Given the description of an element on the screen output the (x, y) to click on. 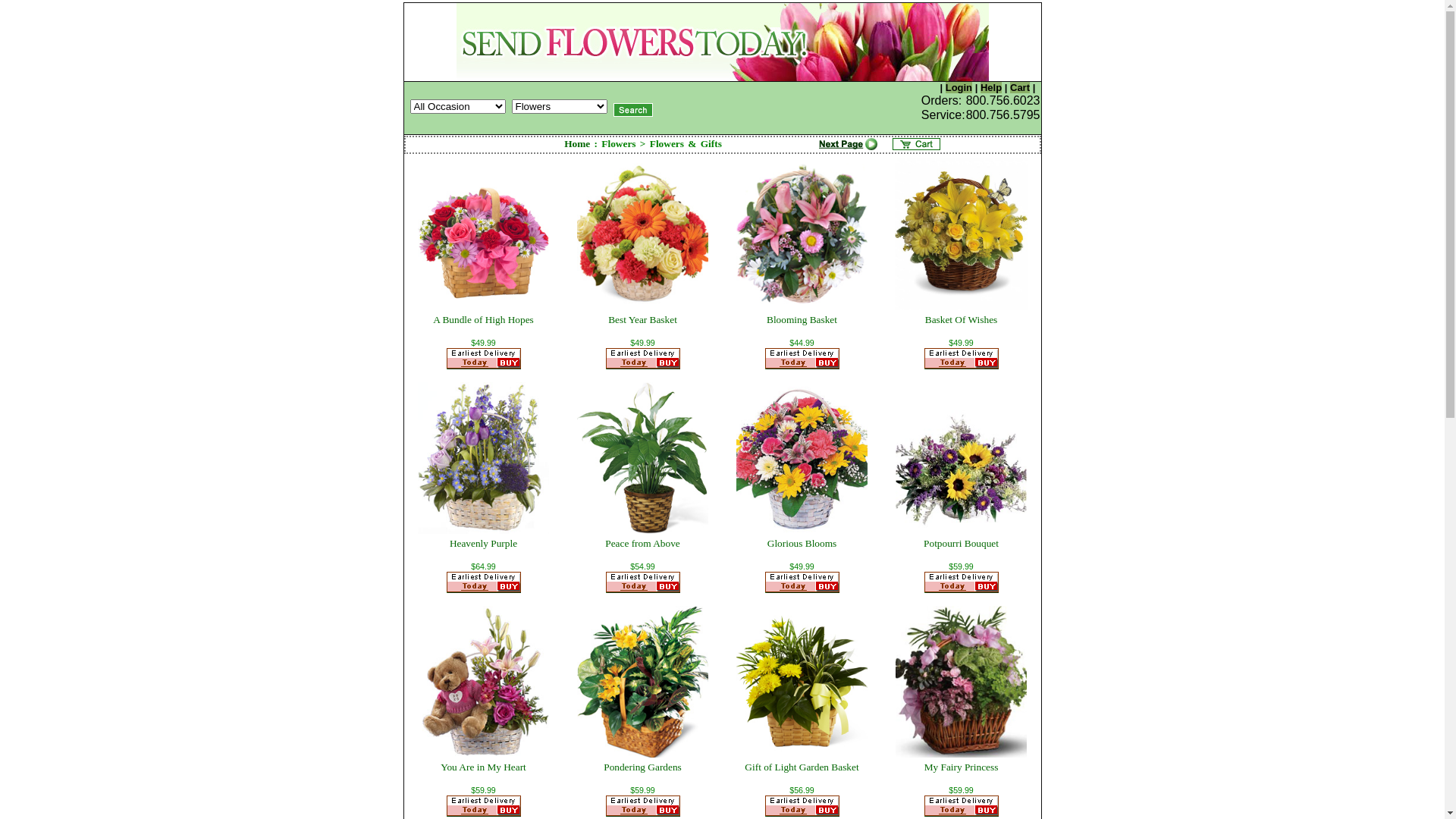
Gift of Light Garden Basket Element type: text (801, 766)
Potpourri Bouquet Element type: text (960, 543)
Peace from Above Element type: text (642, 543)
You Are in My Heart Element type: text (483, 766)
Basket Of Wishes Element type: text (961, 319)
Cart Element type: text (1019, 87)
Glorious Blooms Element type: text (801, 543)
Heavenly Purple Element type: text (483, 543)
Best Year Basket Element type: text (642, 319)
Pondering Gardens Element type: text (642, 766)
Blooming Basket Element type: text (801, 319)
My Fairy Princess Element type: text (961, 766)
A Bundle of High Hopes Element type: text (483, 319)
Home Element type: text (576, 143)
Login Element type: text (958, 87)
Help Element type: text (990, 87)
